Given the description of an element on the screen output the (x, y) to click on. 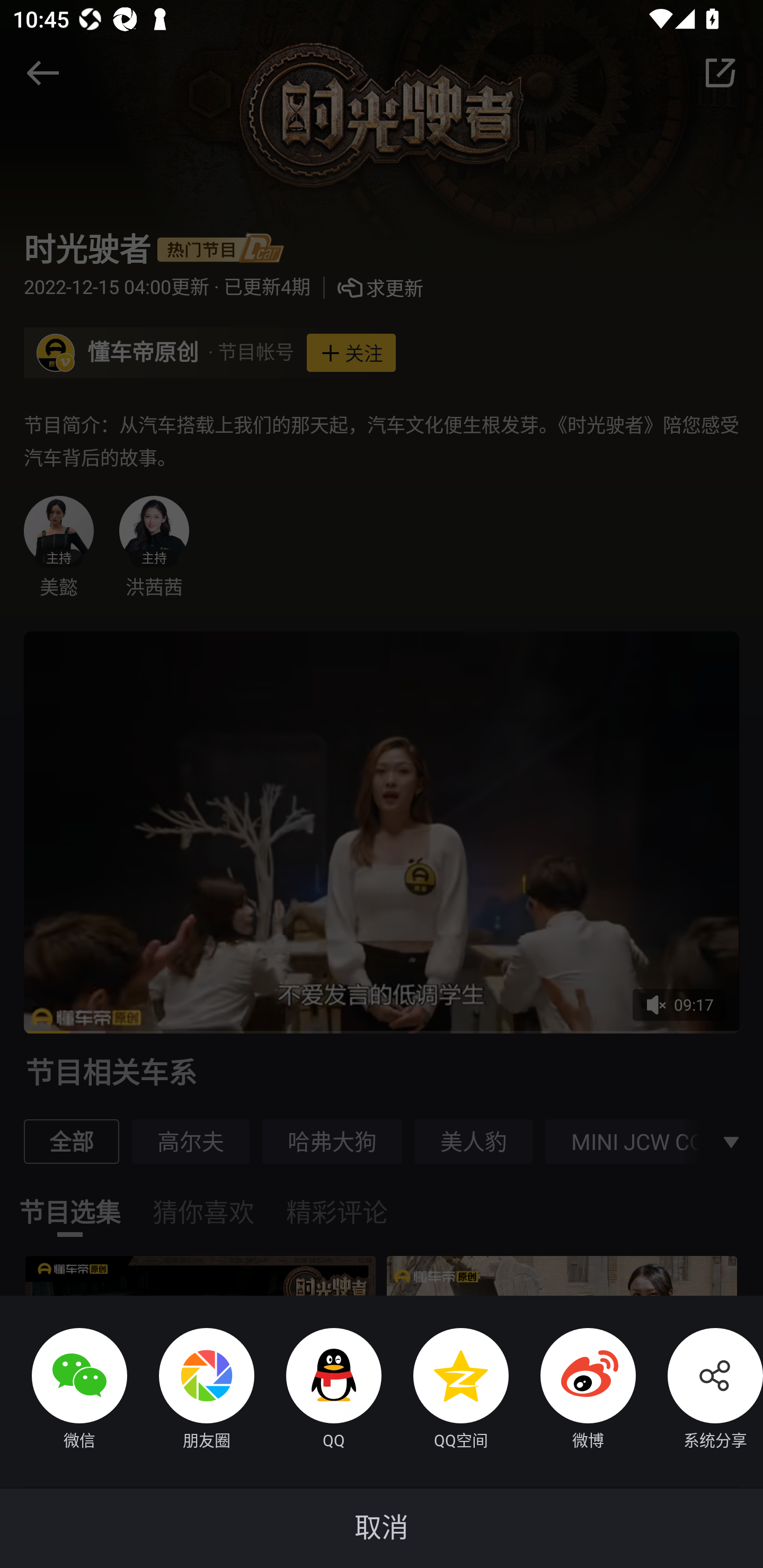
微信 (63, 1390)
朋友圈 (190, 1390)
QQ (317, 1390)
QQ空间 (444, 1390)
微博 (571, 1390)
系统分享 (699, 1390)
取消 (381, 1528)
